Given the description of an element on the screen output the (x, y) to click on. 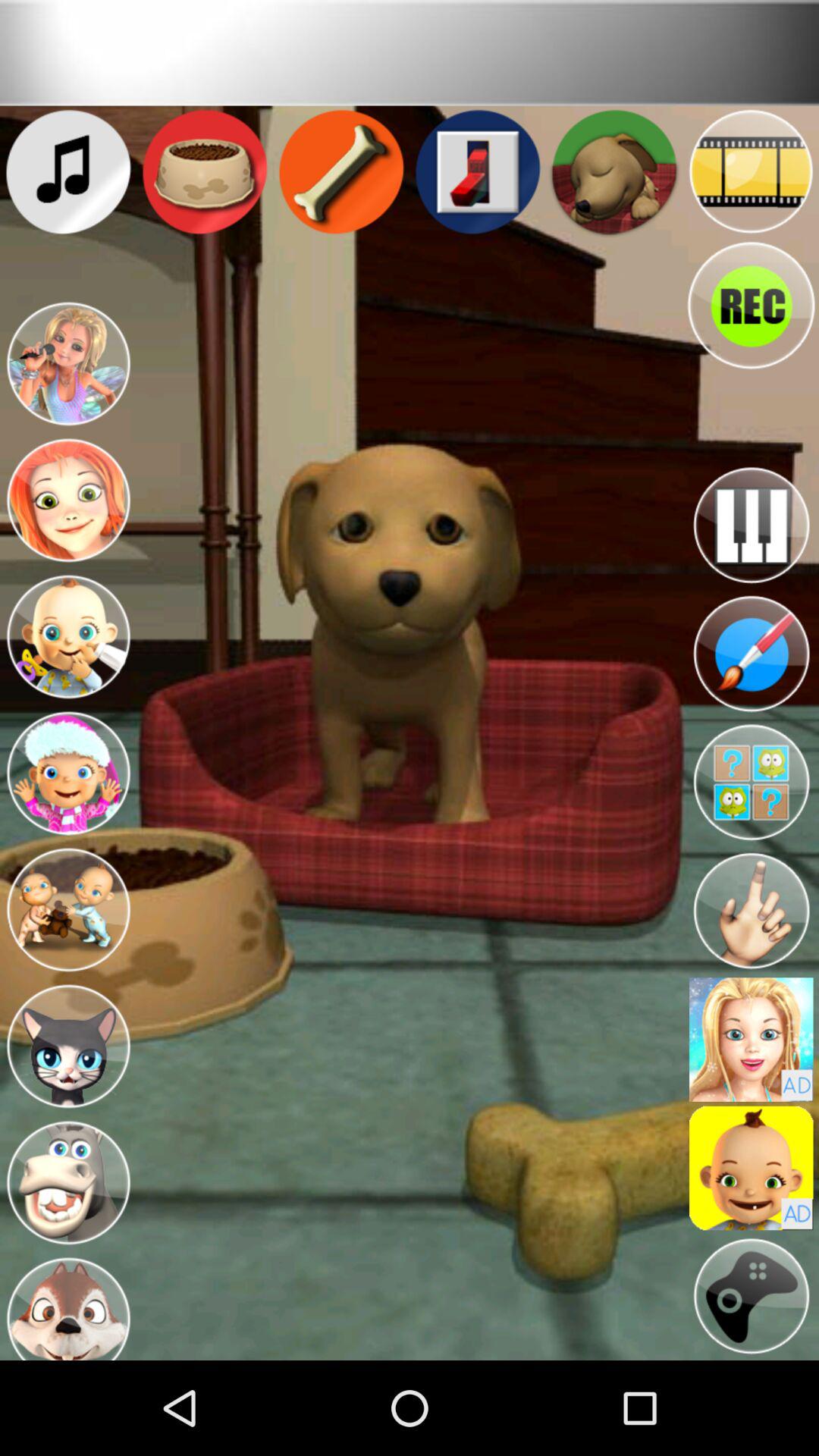
switch to different character (68, 500)
